Given the description of an element on the screen output the (x, y) to click on. 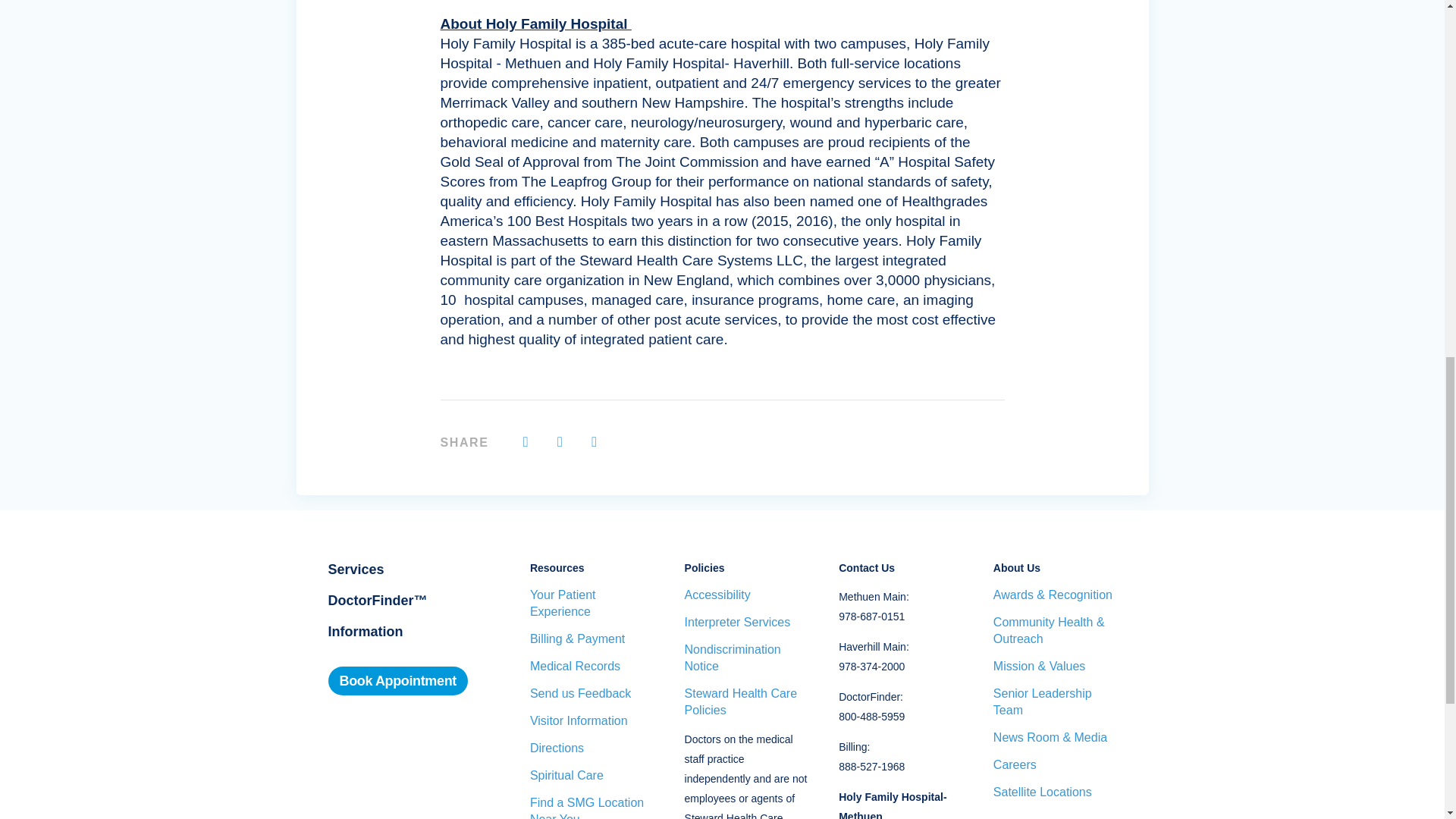
Send us Feedback (591, 693)
Your Patient Experience (591, 603)
Directions (591, 748)
Services (355, 569)
Medical Records (591, 666)
Book Appointment (397, 680)
Information (365, 631)
Visitor Information  (591, 720)
